Given the description of an element on the screen output the (x, y) to click on. 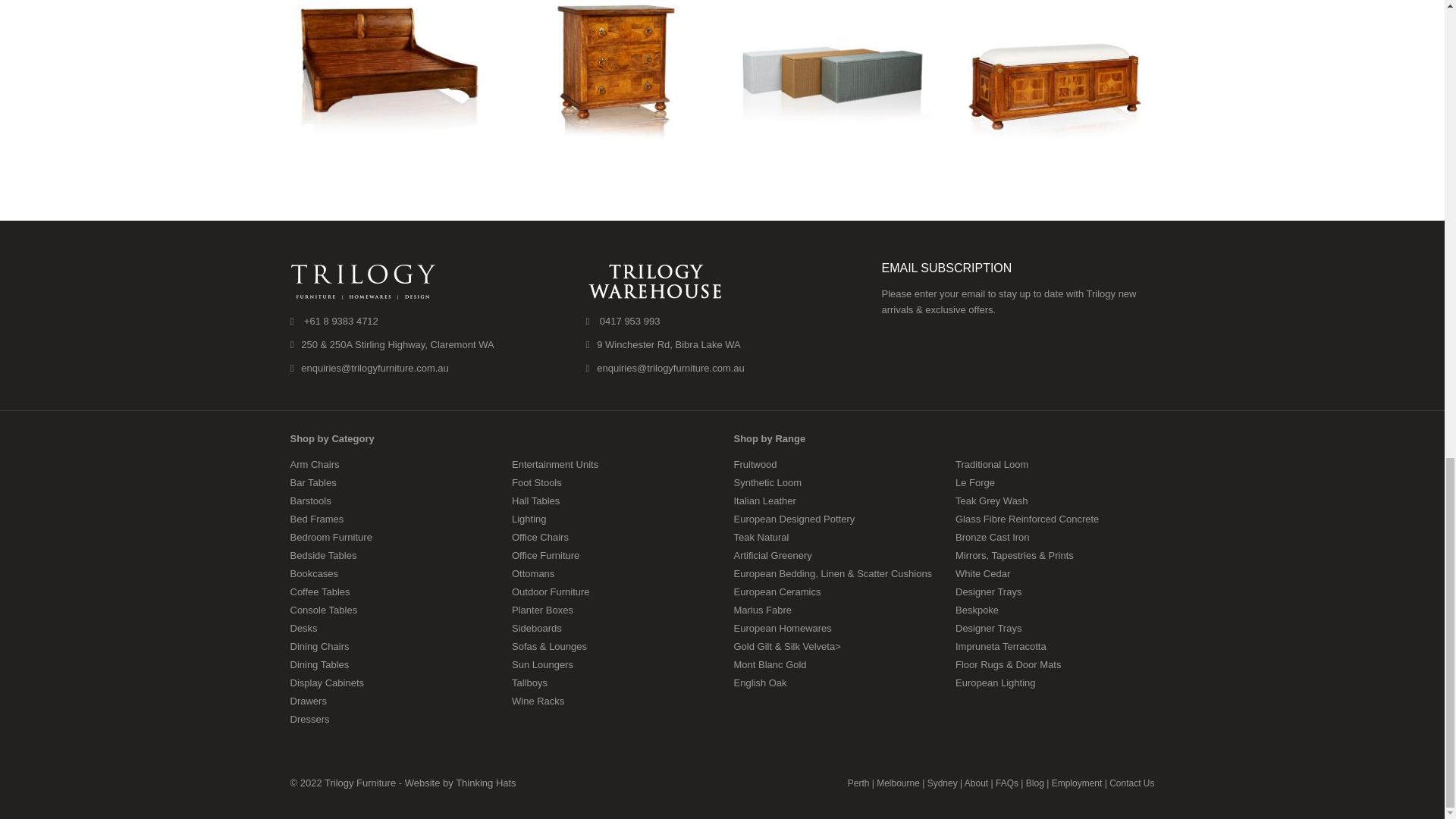
Perth (858, 783)
Thinking Hats (485, 782)
Melbourne (898, 783)
